Given the description of an element on the screen output the (x, y) to click on. 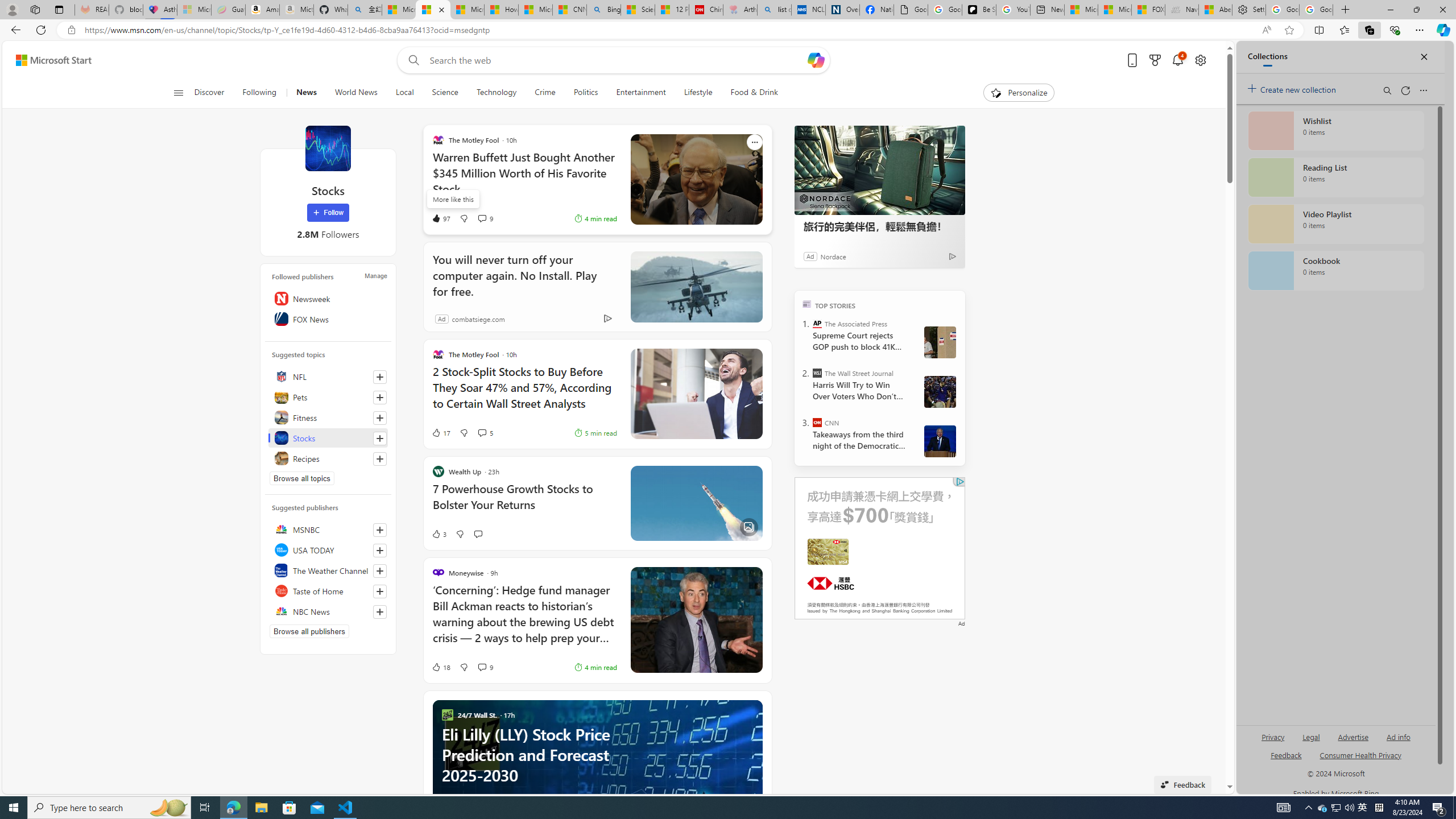
Browse all topics (301, 477)
View comments 5 Comment (481, 432)
Pets (327, 397)
AutomationID: genId96 (1285, 759)
FOX News - MSN (1148, 9)
